Given the description of an element on the screen output the (x, y) to click on. 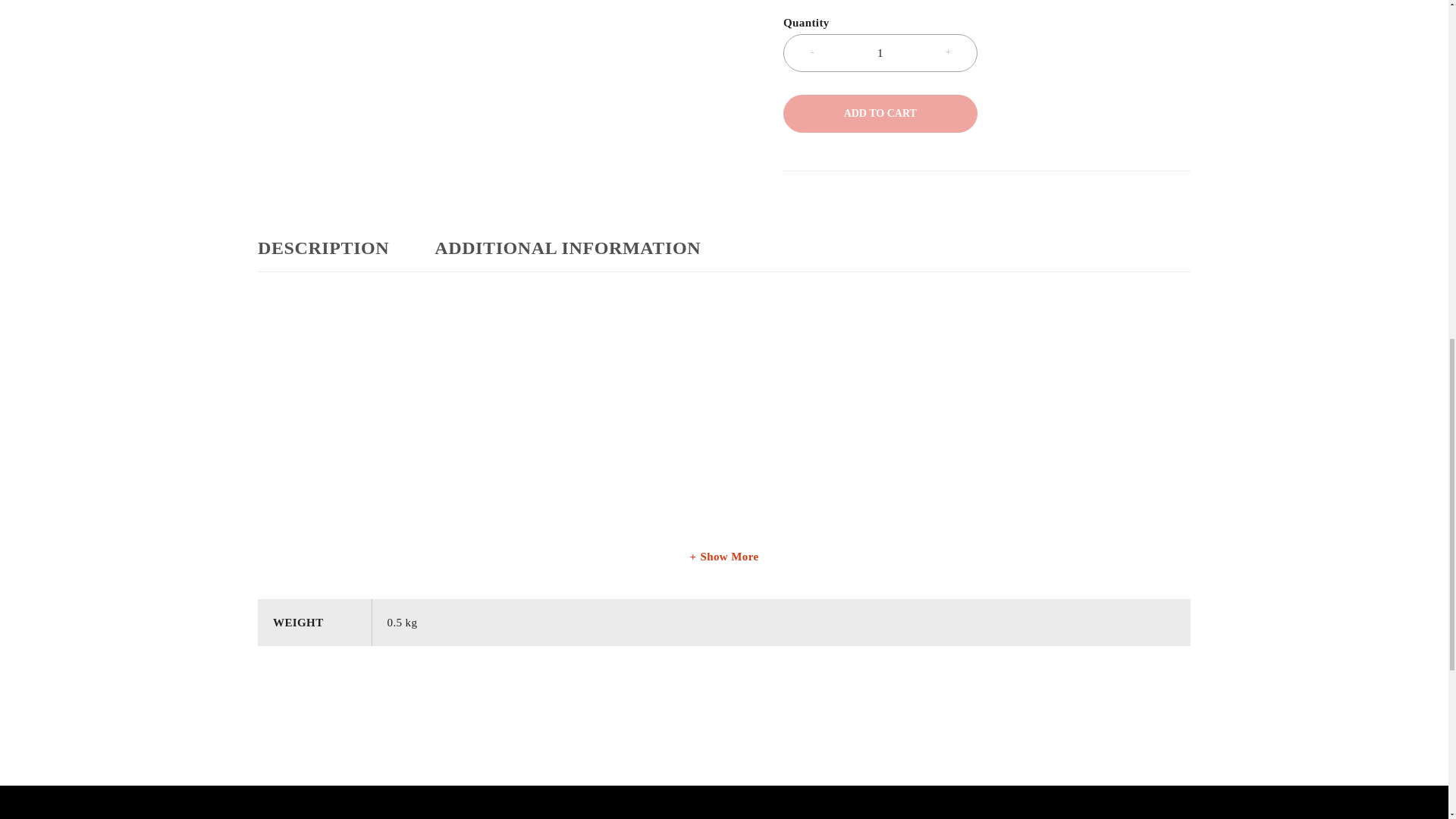
- (812, 52)
Hitman 3 - Official Launch Trailer (447, 418)
ADD TO CART (879, 113)
DESCRIPTION (322, 248)
1 (879, 53)
ADDITIONAL INFORMATION (566, 248)
Show More (724, 556)
